Given the description of an element on the screen output the (x, y) to click on. 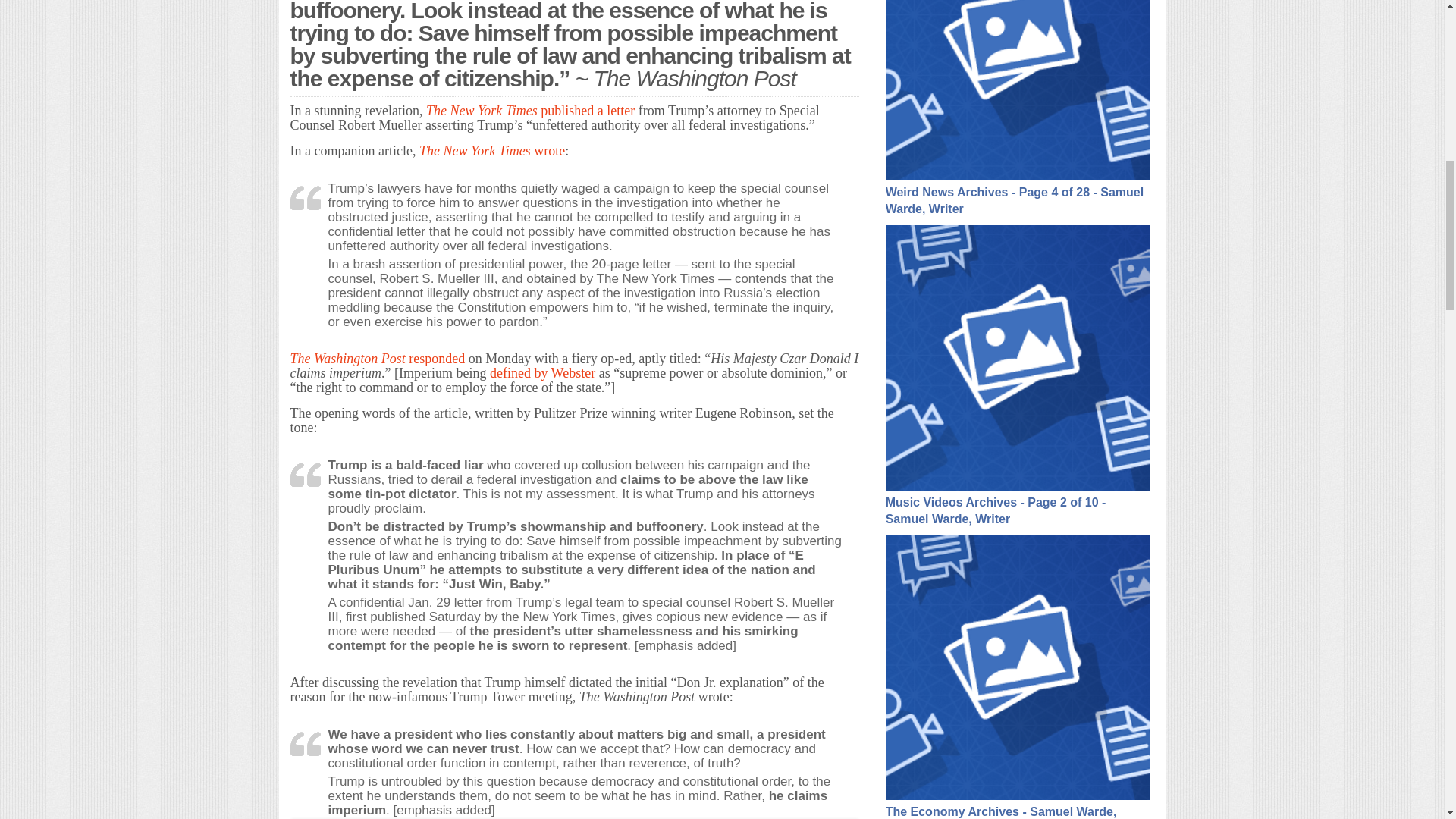
The New York Times published a letter (530, 110)
The Washington Post responded (376, 358)
defined by Webster (542, 372)
The New York Times wrote (491, 150)
